Given the description of an element on the screen output the (x, y) to click on. 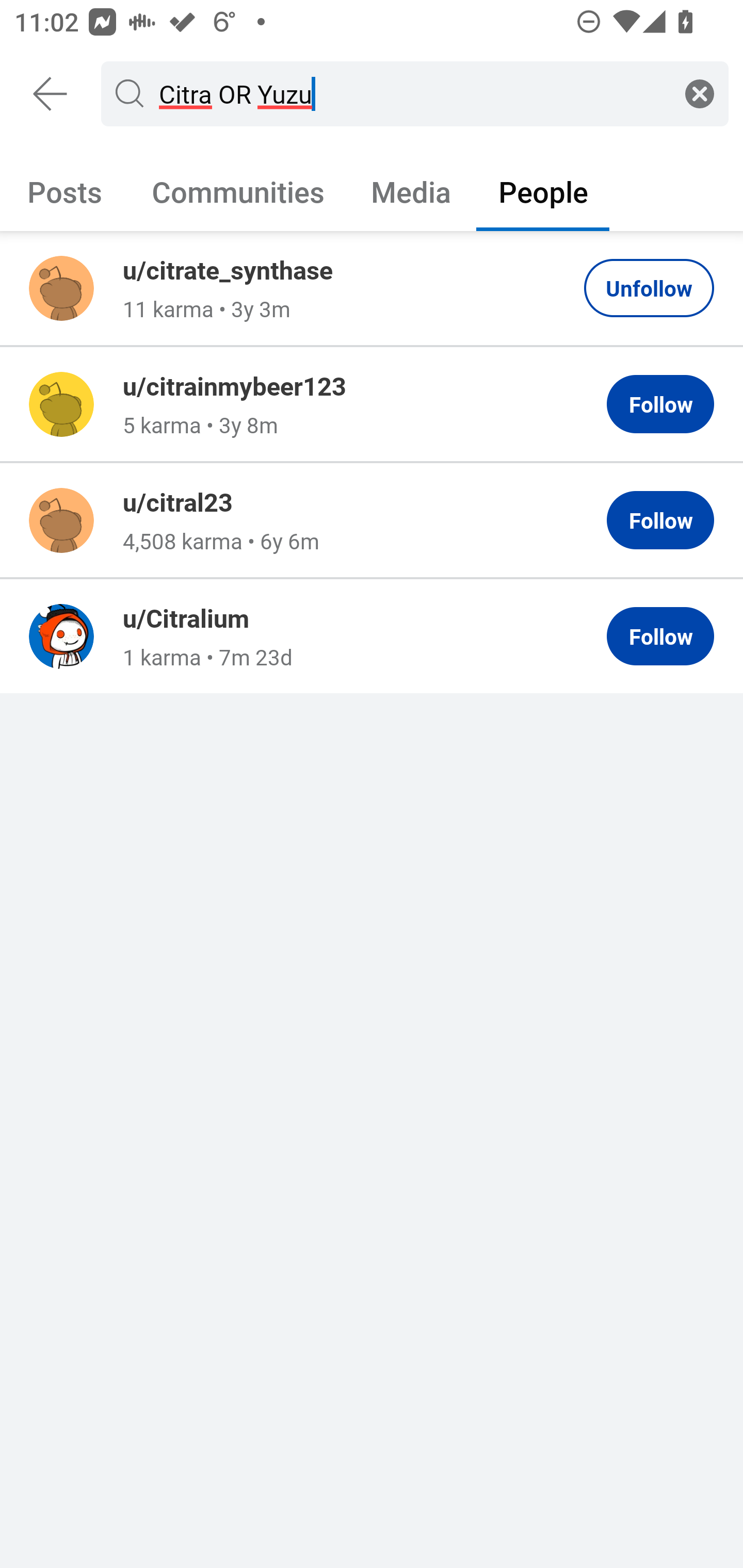
Back (50, 93)
Citra OR Yuzu (410, 93)
Clear search (699, 93)
Posts (65, 191)
Communities (238, 191)
Media (411, 191)
Follow (660, 404)
Follow (660, 520)
Follow (660, 636)
